Given the description of an element on the screen output the (x, y) to click on. 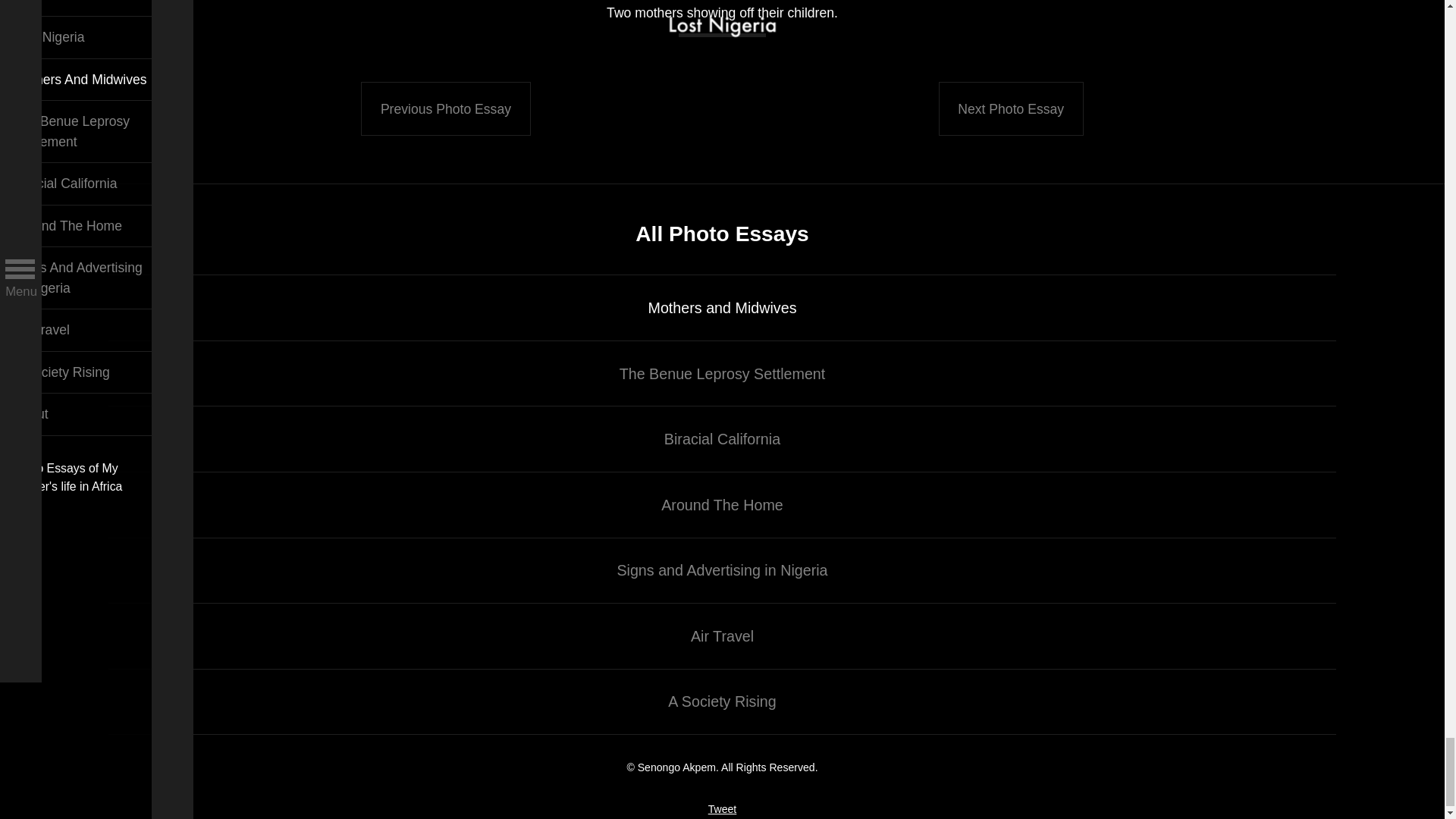
Next Photo Essay (1011, 108)
Biracial California (721, 438)
Around The Home (721, 504)
The Benue Leprosy Settlement (721, 373)
Mothers and Midwives (721, 307)
Air Travel (721, 636)
Signs and Advertising in Nigeria (721, 570)
Previous Photo Essay (445, 108)
A Society Rising (721, 701)
Tweet (721, 808)
